Given the description of an element on the screen output the (x, y) to click on. 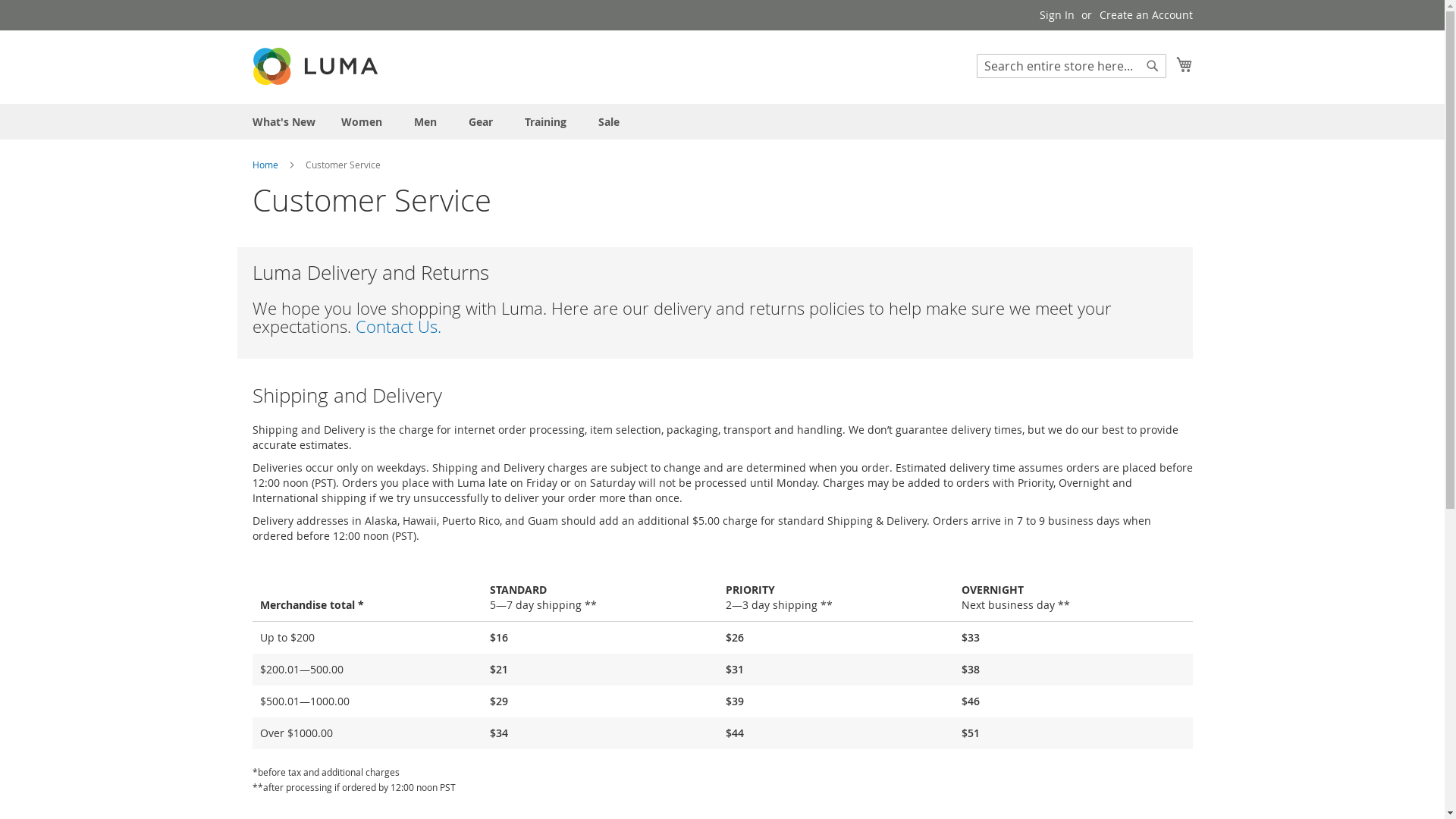
Search Element type: text (1152, 65)
Skip to Content Element type: text (251, 6)
Gear Element type: text (483, 121)
Home Element type: text (265, 164)
What's New Element type: text (282, 121)
Create an Account Element type: text (1145, 14)
Contact Us. Element type: text (397, 326)
Men Element type: text (427, 121)
Sale Element type: text (607, 121)
Training Element type: text (548, 121)
Women Element type: text (364, 121)
My Cart Element type: text (1183, 64)
Sign In Element type: text (1055, 14)
